Given the description of an element on the screen output the (x, y) to click on. 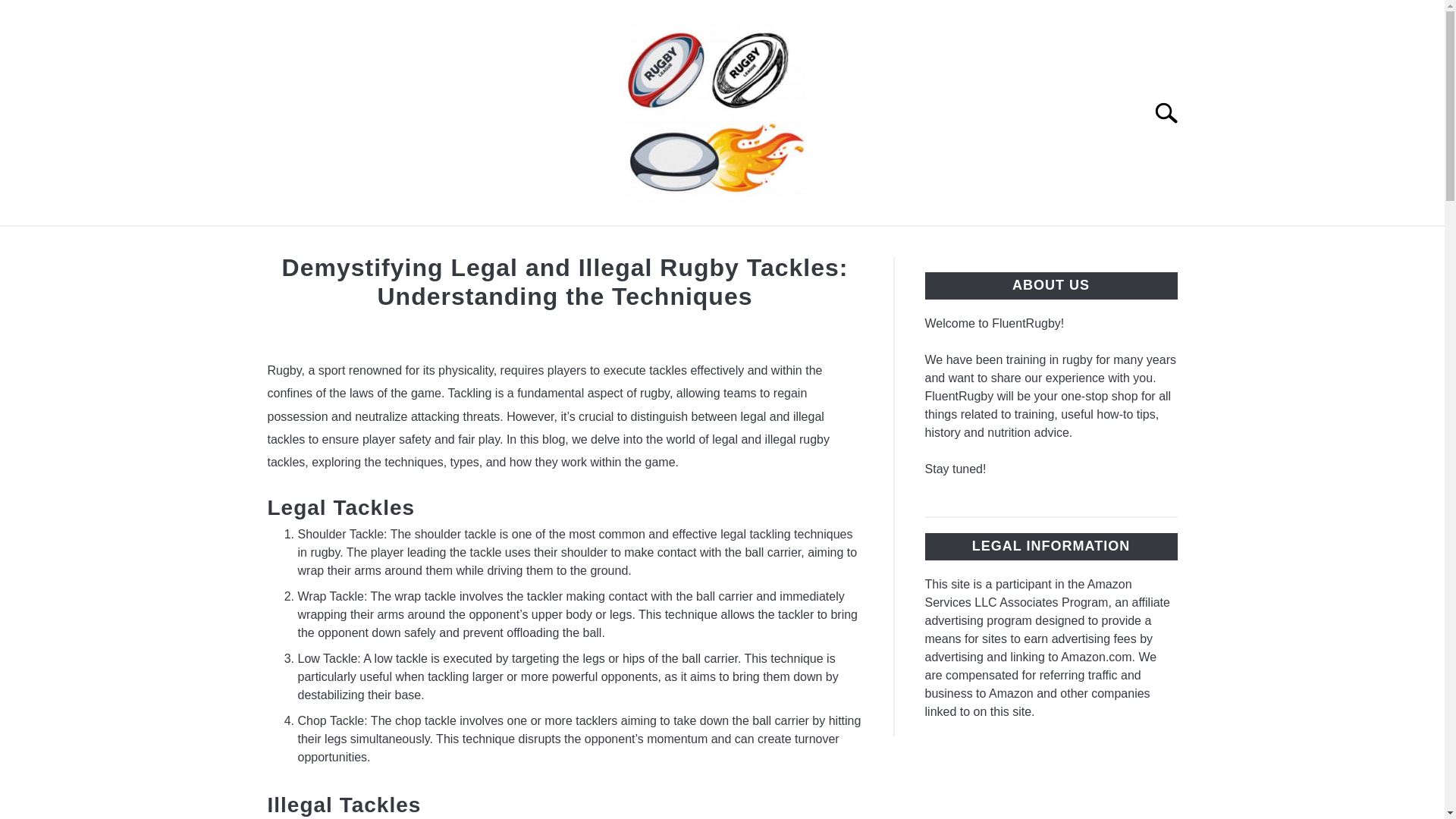
Search (1172, 112)
